Given the description of an element on the screen output the (x, y) to click on. 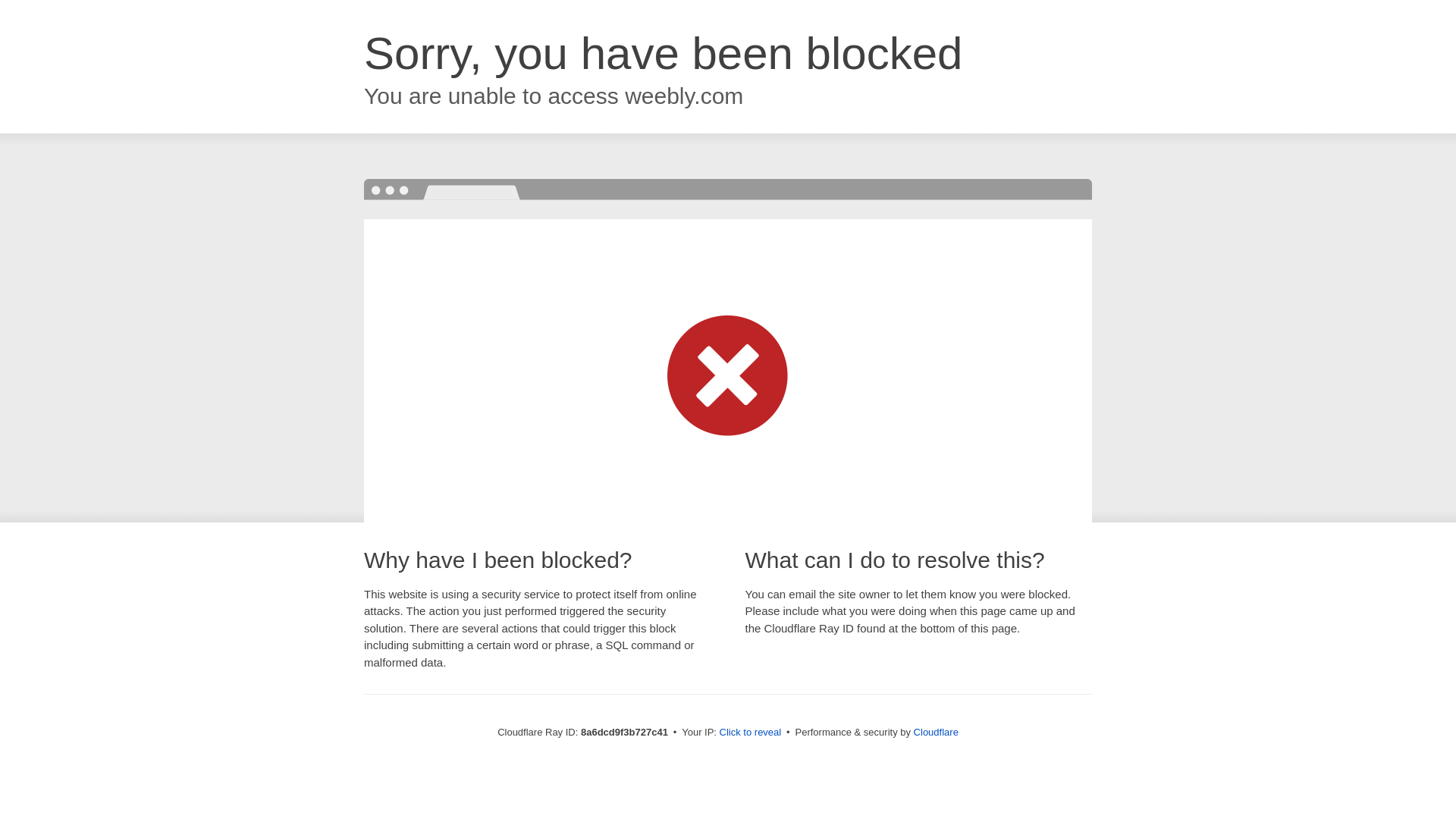
Cloudflare (936, 731)
Click to reveal (750, 732)
